Given the description of an element on the screen output the (x, y) to click on. 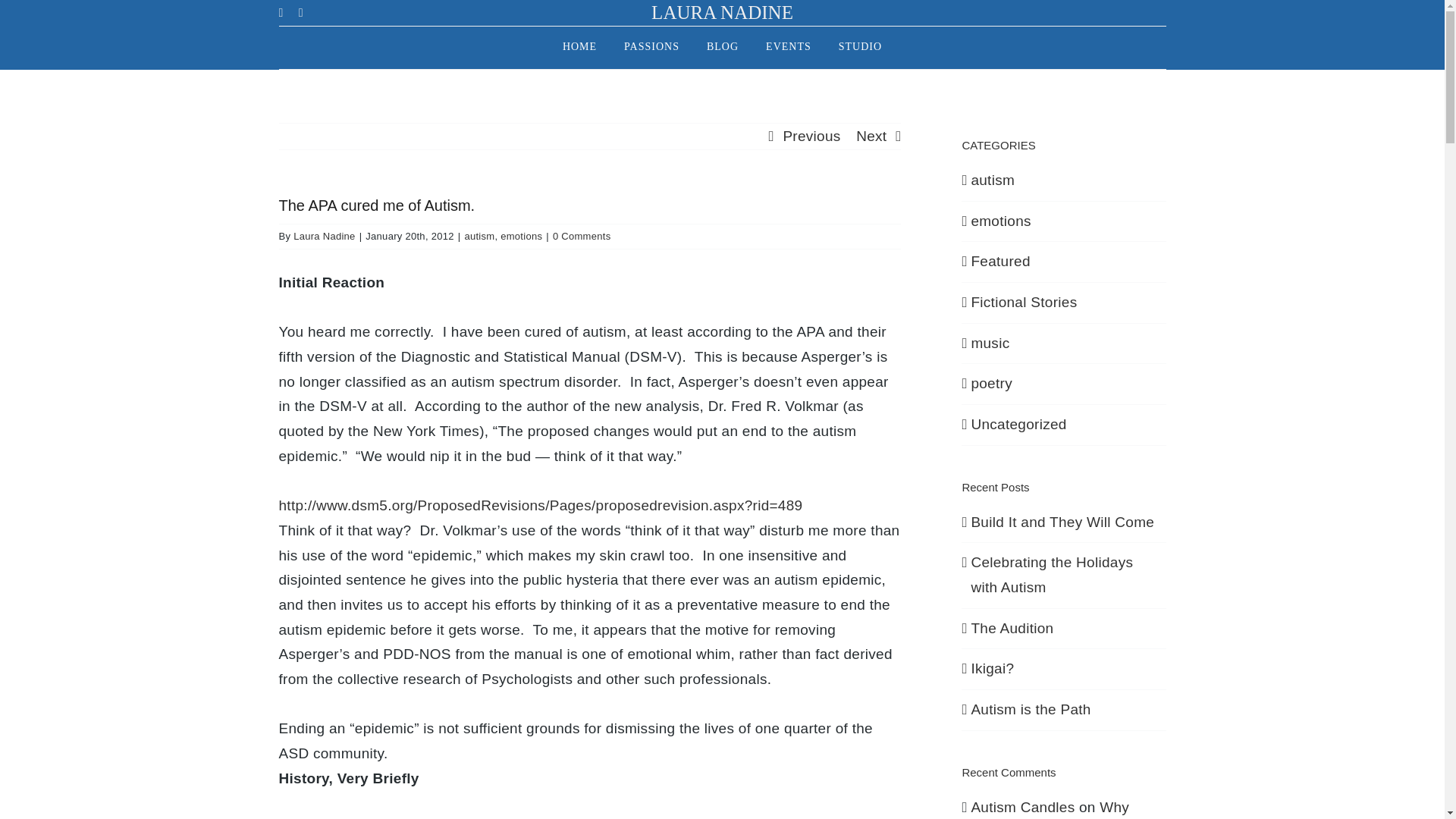
emotions (520, 235)
HOME (579, 47)
autism (479, 235)
EVENTS (787, 47)
0 Comments (582, 235)
Posts by Laura Nadine (324, 235)
BLOG (722, 47)
Featured (1064, 261)
Laura Nadine (324, 235)
Next (871, 136)
